Given the description of an element on the screen output the (x, y) to click on. 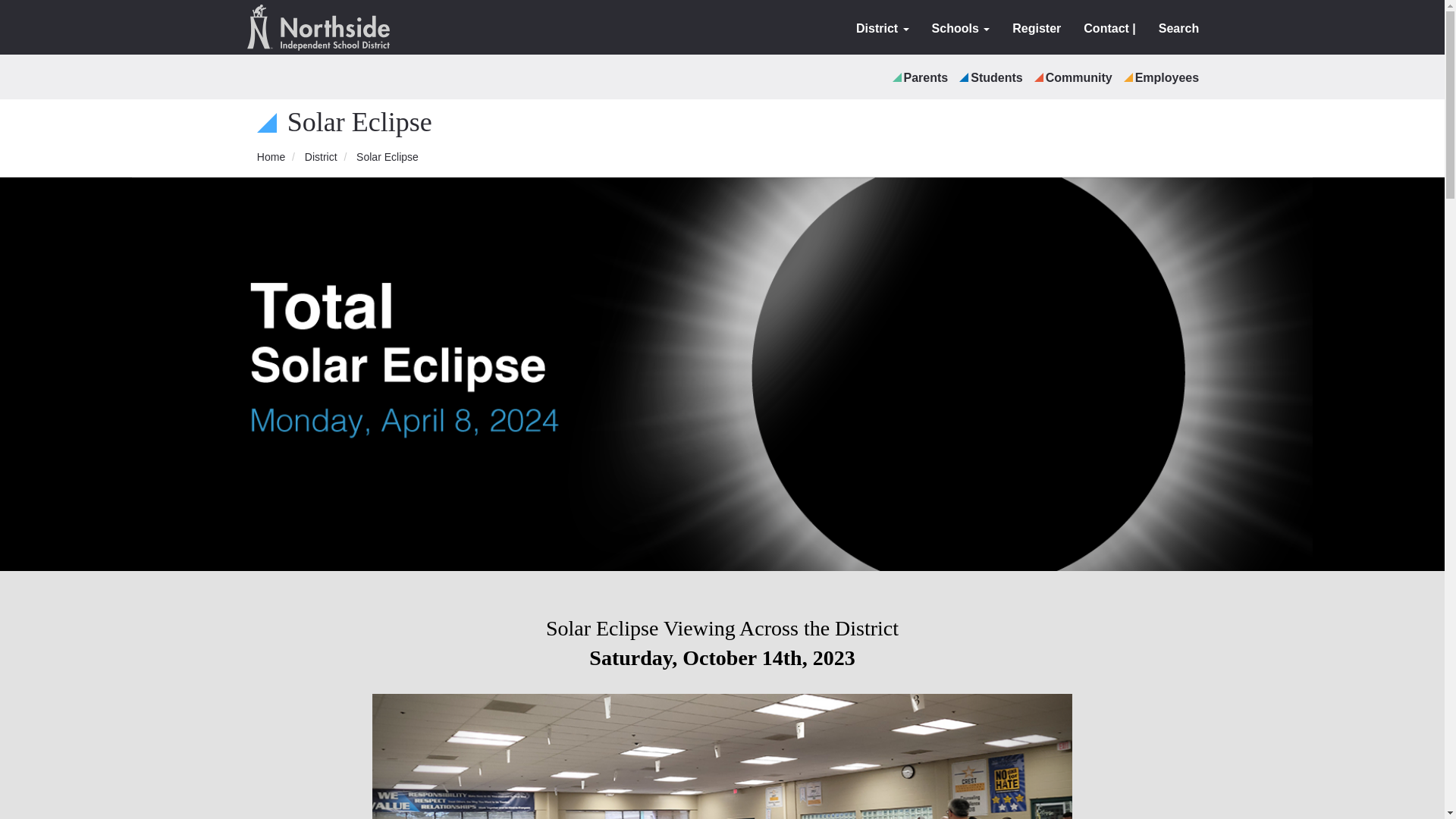
District (882, 29)
Schools (960, 29)
